Given the description of an element on the screen output the (x, y) to click on. 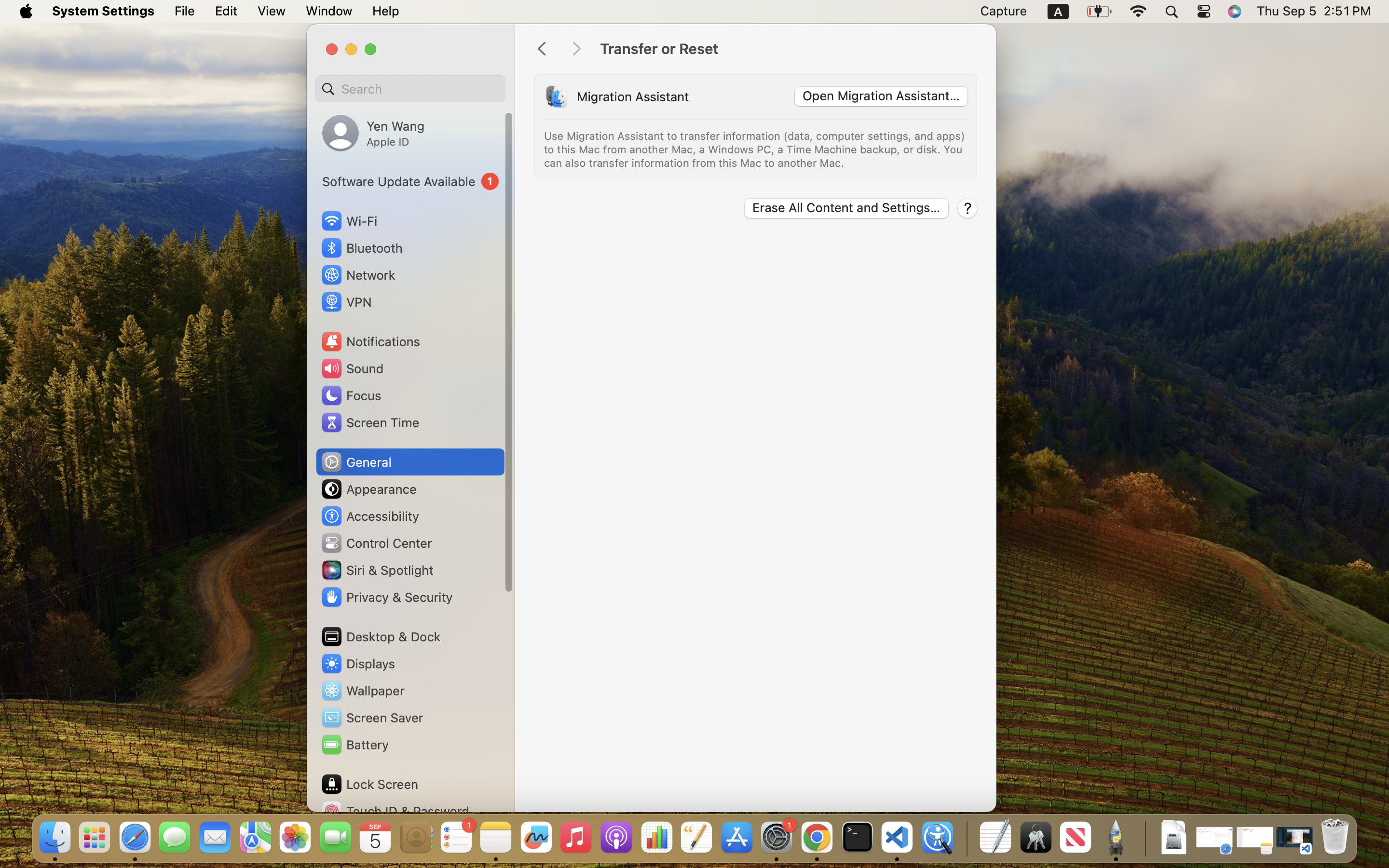
Appearance Element type: AXStaticText (368, 488)
Transfer or Reset Element type: AXStaticText (788, 49)
Migration Assistant Element type: AXStaticText (632, 96)
Wallpaper Element type: AXStaticText (362, 690)
Control Center Element type: AXStaticText (376, 542)
